Given the description of an element on the screen output the (x, y) to click on. 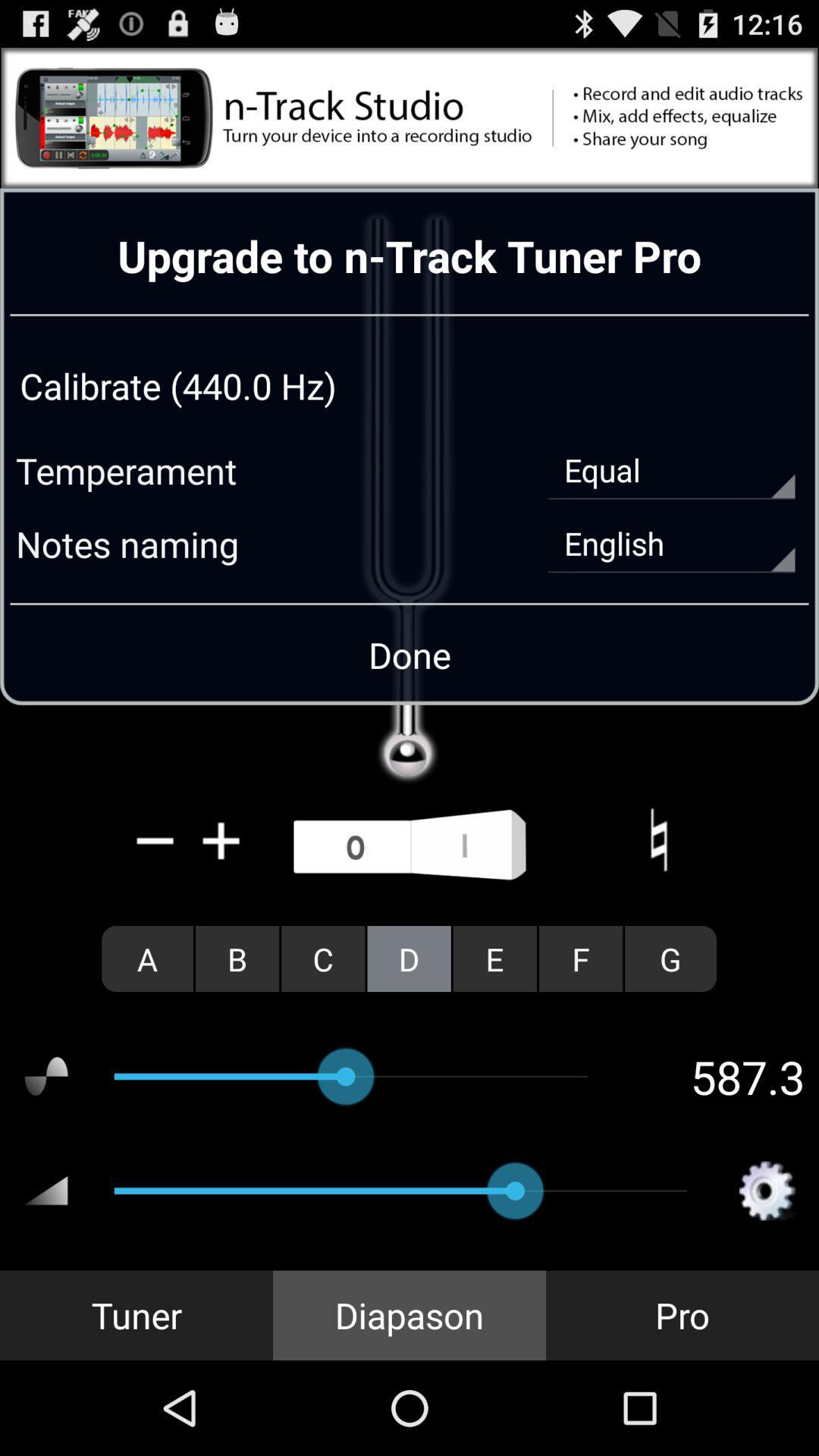
zoom option (221, 840)
